Given the description of an element on the screen output the (x, y) to click on. 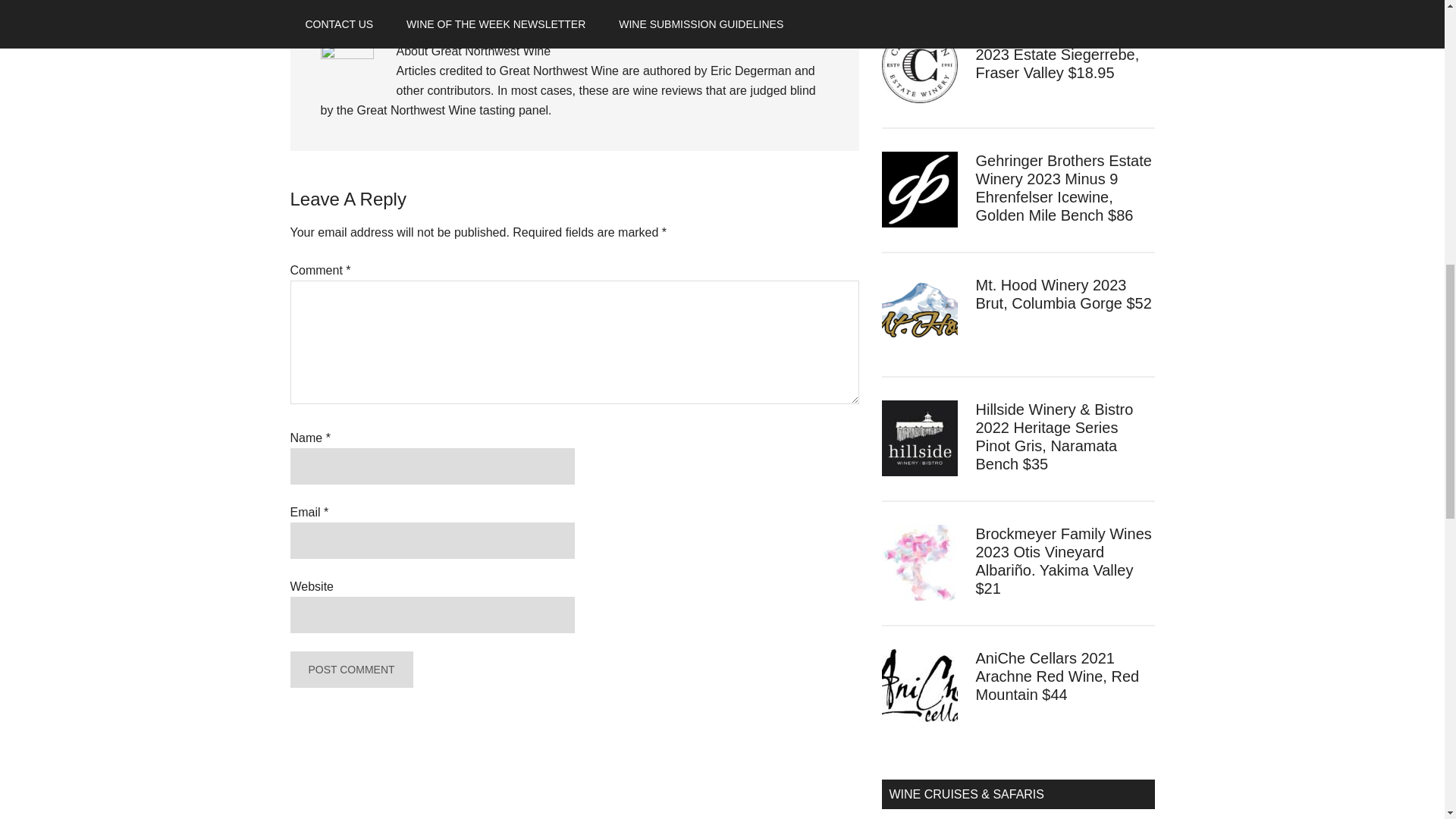
Post Comment (350, 669)
